Given the description of an element on the screen output the (x, y) to click on. 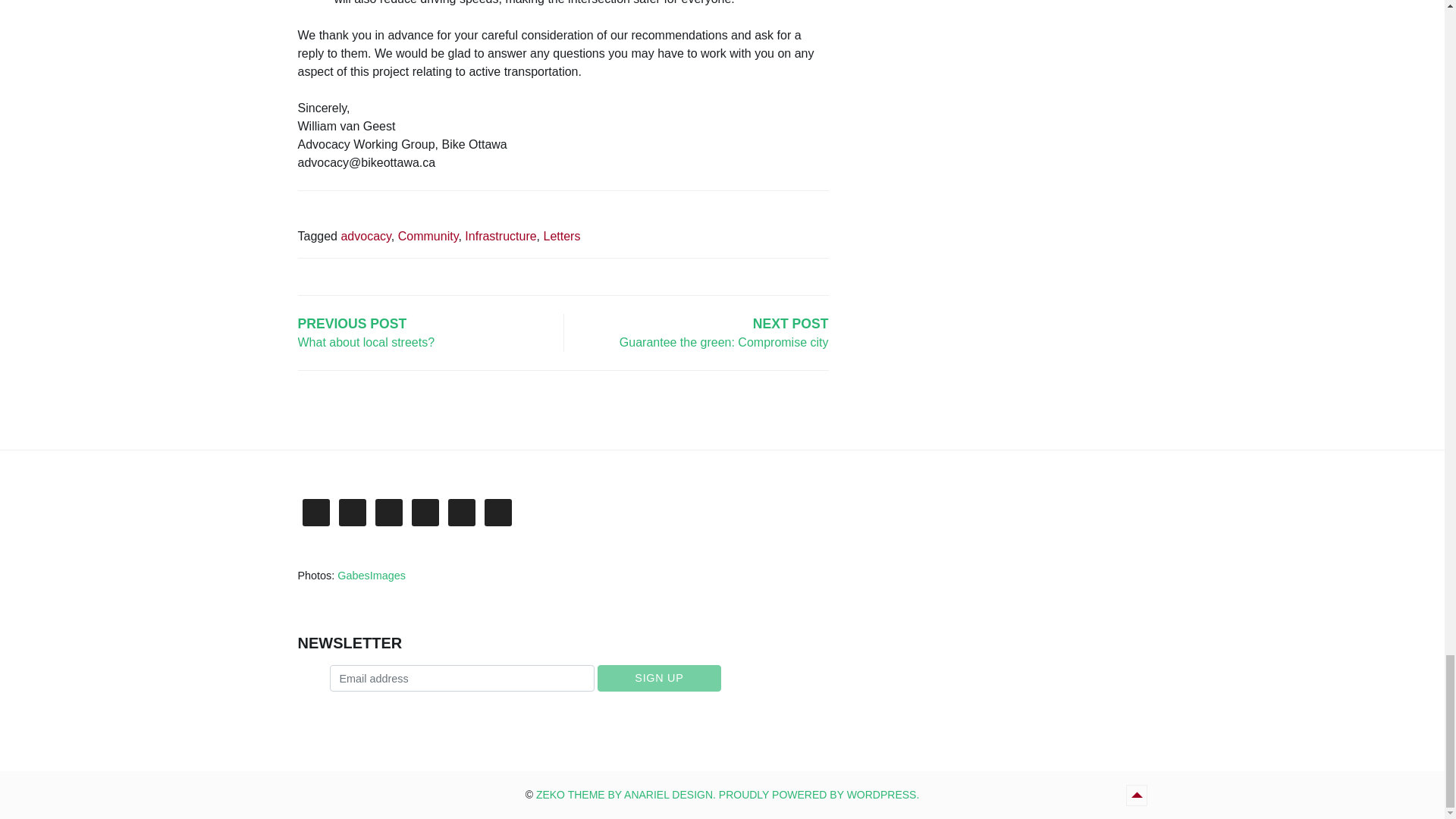
Bike Ottawa (726, 795)
SIGN UP (658, 678)
